Given the description of an element on the screen output the (x, y) to click on. 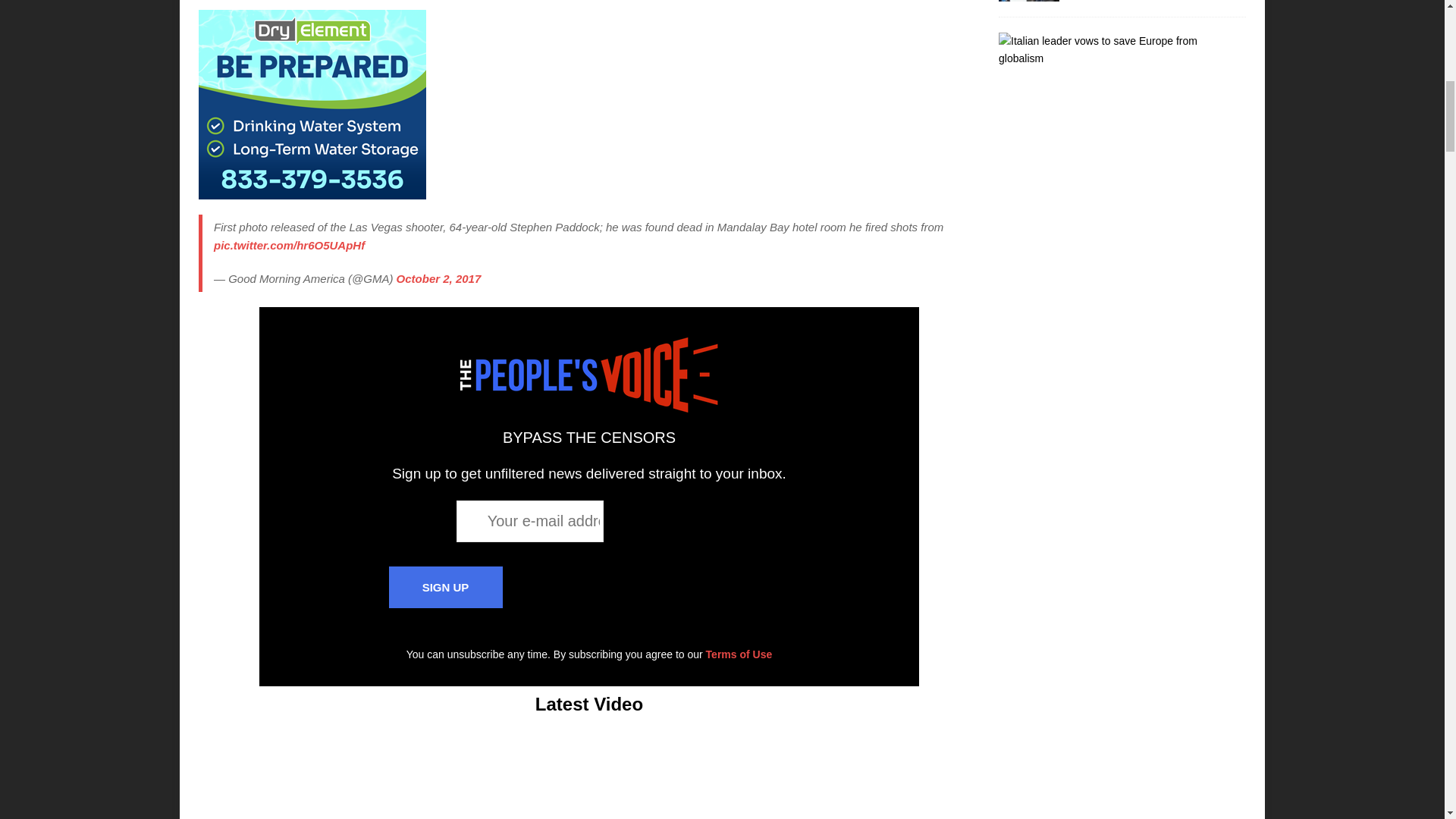
SIGN UP (445, 587)
